Given the description of an element on the screen output the (x, y) to click on. 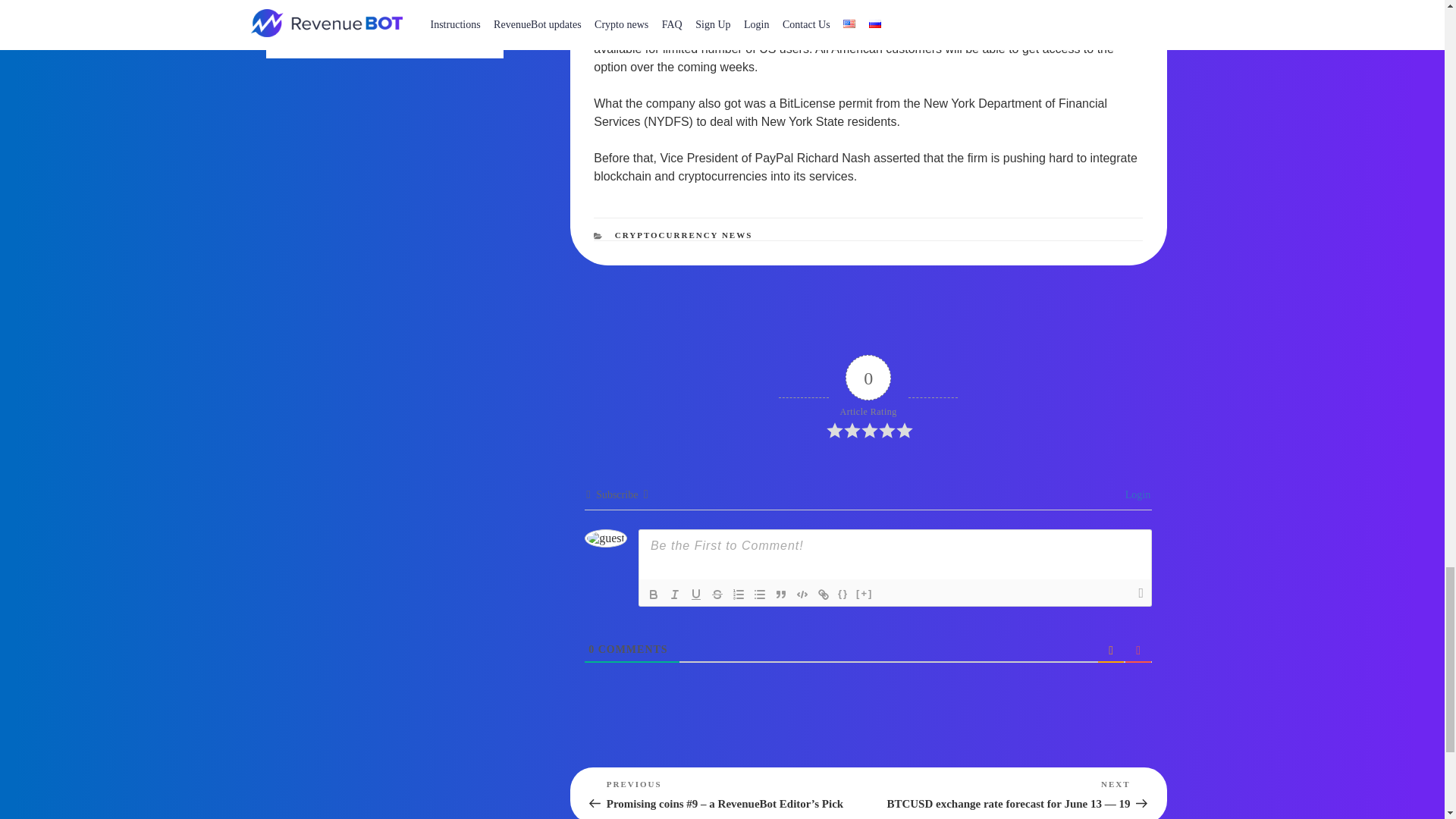
CRYPTOCURRENCY NEWS (683, 234)
Login (1135, 494)
Bold (653, 594)
Strike (717, 594)
Underline (695, 594)
Unordered List (759, 594)
ordered (738, 594)
Italic (674, 594)
Spoiler (863, 594)
Blockquote (781, 594)
Code Block (802, 594)
Source Code (842, 594)
Link (823, 594)
bullet (759, 594)
Ordered List (738, 594)
